Given the description of an element on the screen output the (x, y) to click on. 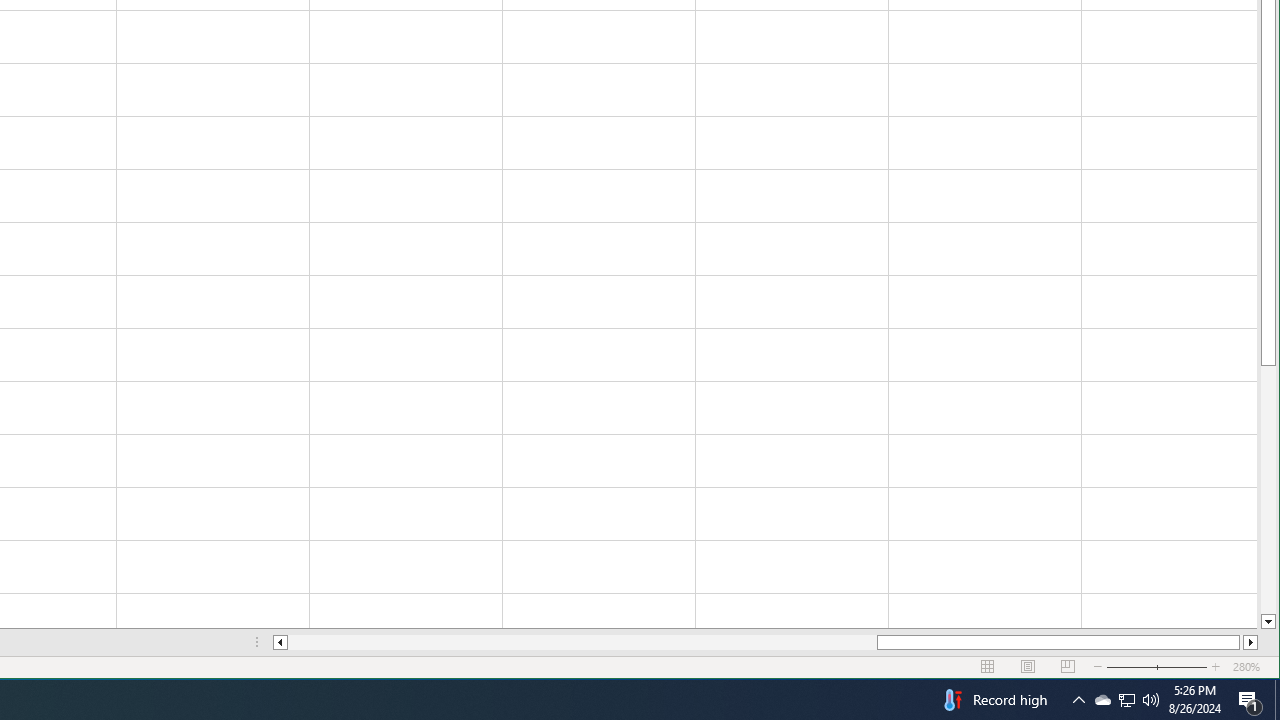
Record high (993, 699)
Action Center, 1 new notification (1250, 699)
Show desktop (1277, 699)
